Given the description of an element on the screen output the (x, y) to click on. 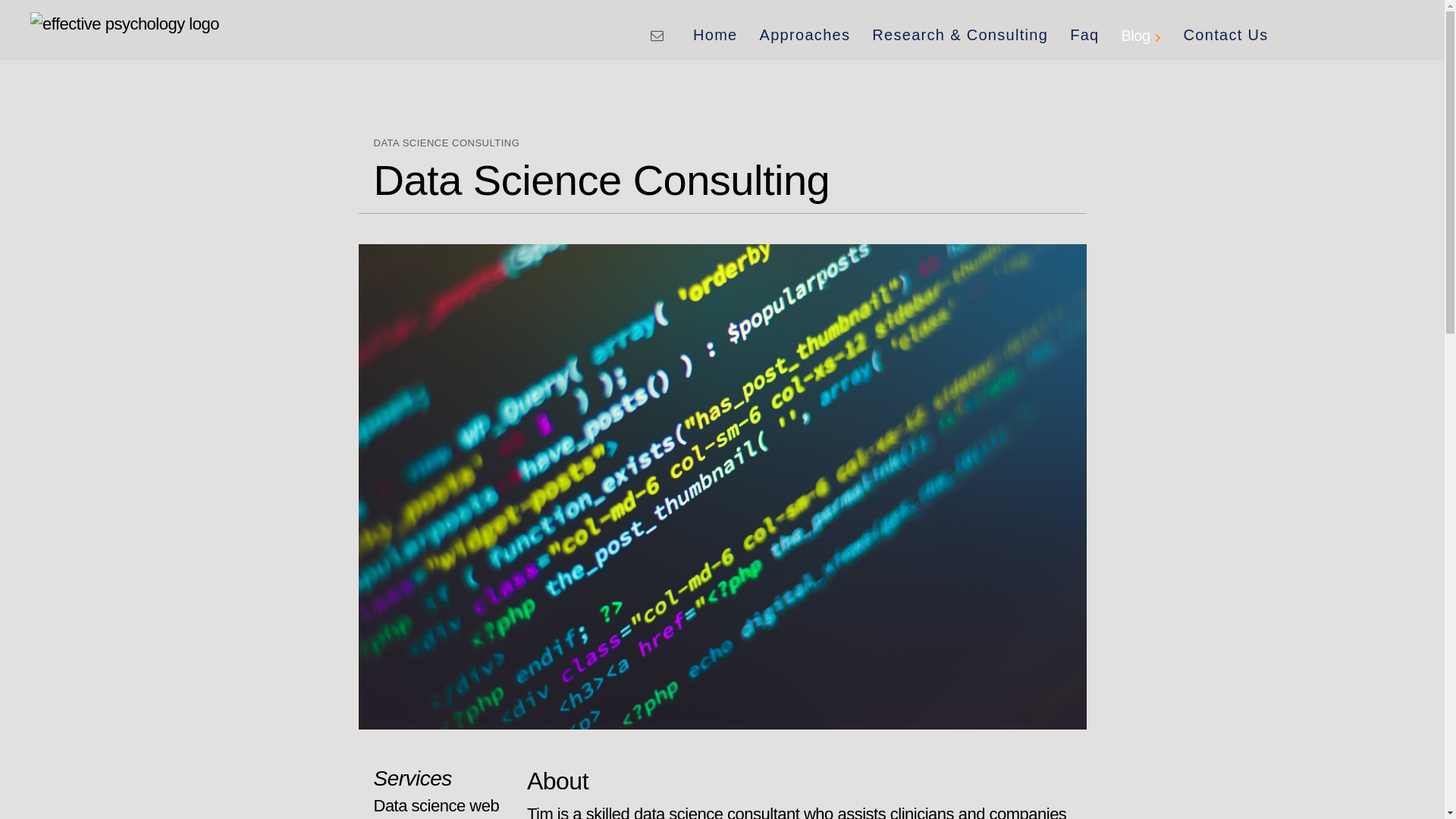
Blog Element type: text (1141, 33)
Faq Element type: text (1084, 33)
Contact Us Element type: text (1226, 33)
DATA SCIENCE CONSULTING Element type: text (446, 142)
Approaches Element type: text (805, 33)
Home Element type: text (715, 33)
Research & Consulting Element type: text (959, 33)
